Given the description of an element on the screen output the (x, y) to click on. 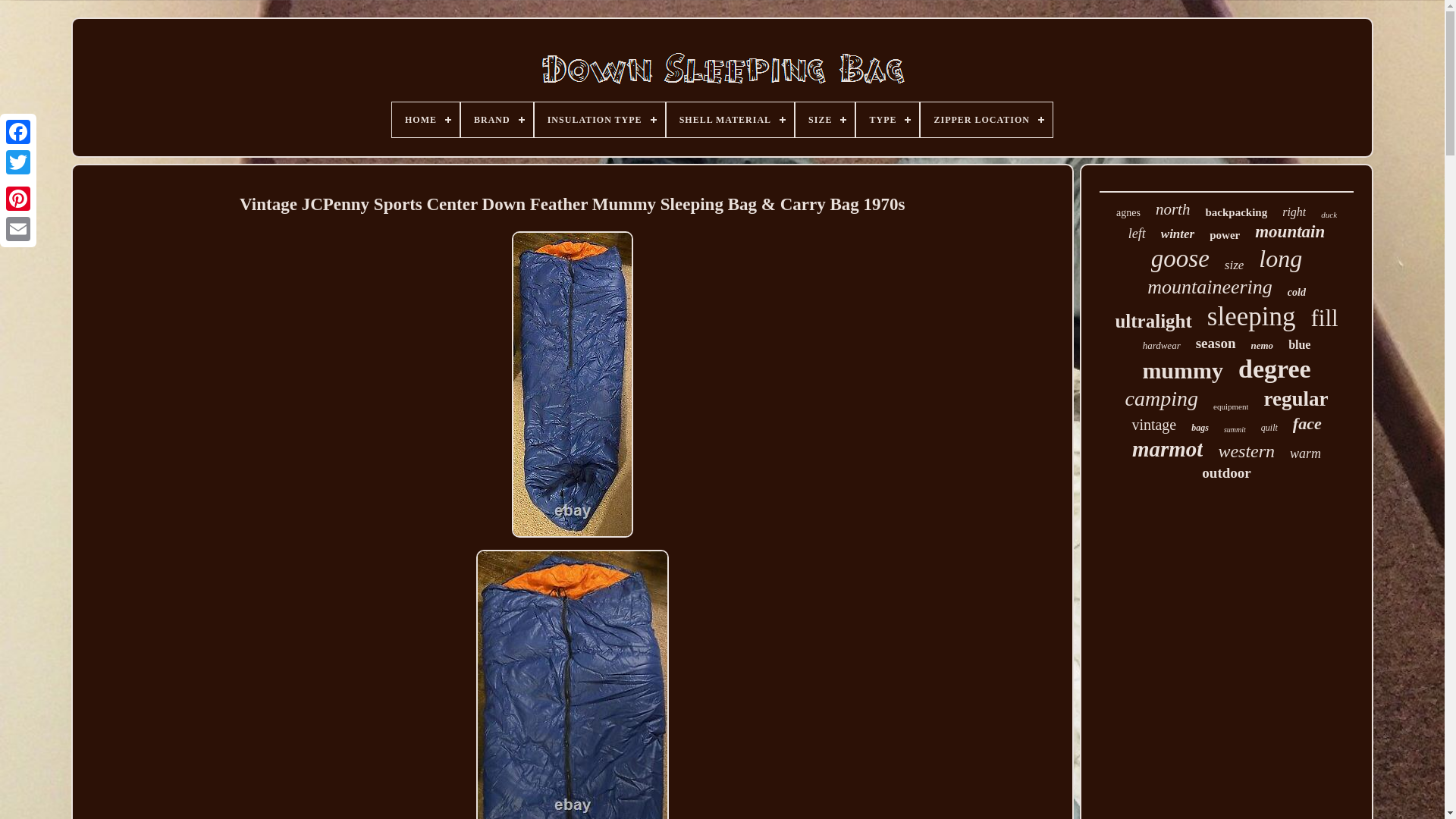
BRAND (496, 119)
HOME (425, 119)
INSULATION TYPE (599, 119)
